Given the description of an element on the screen output the (x, y) to click on. 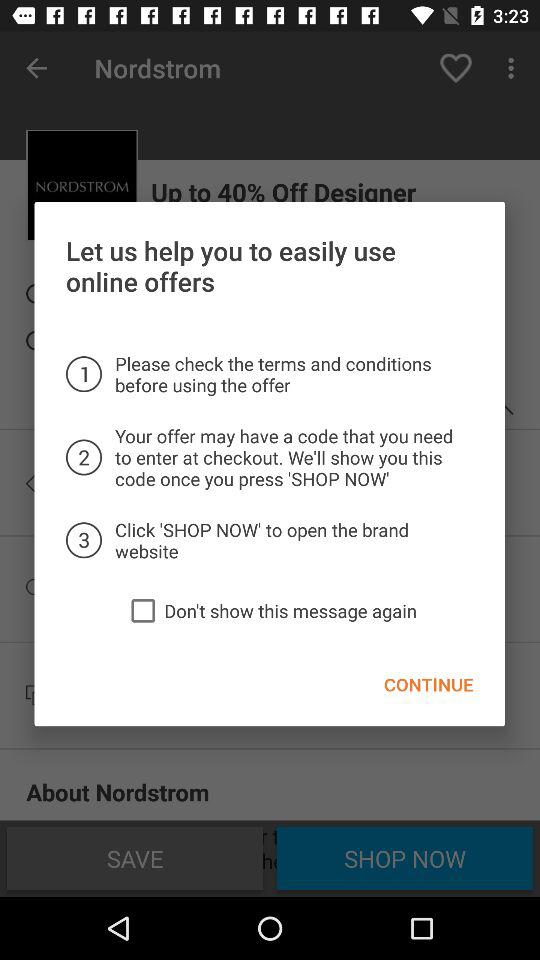
turn on icon below the don t show (428, 683)
